Given the description of an element on the screen output the (x, y) to click on. 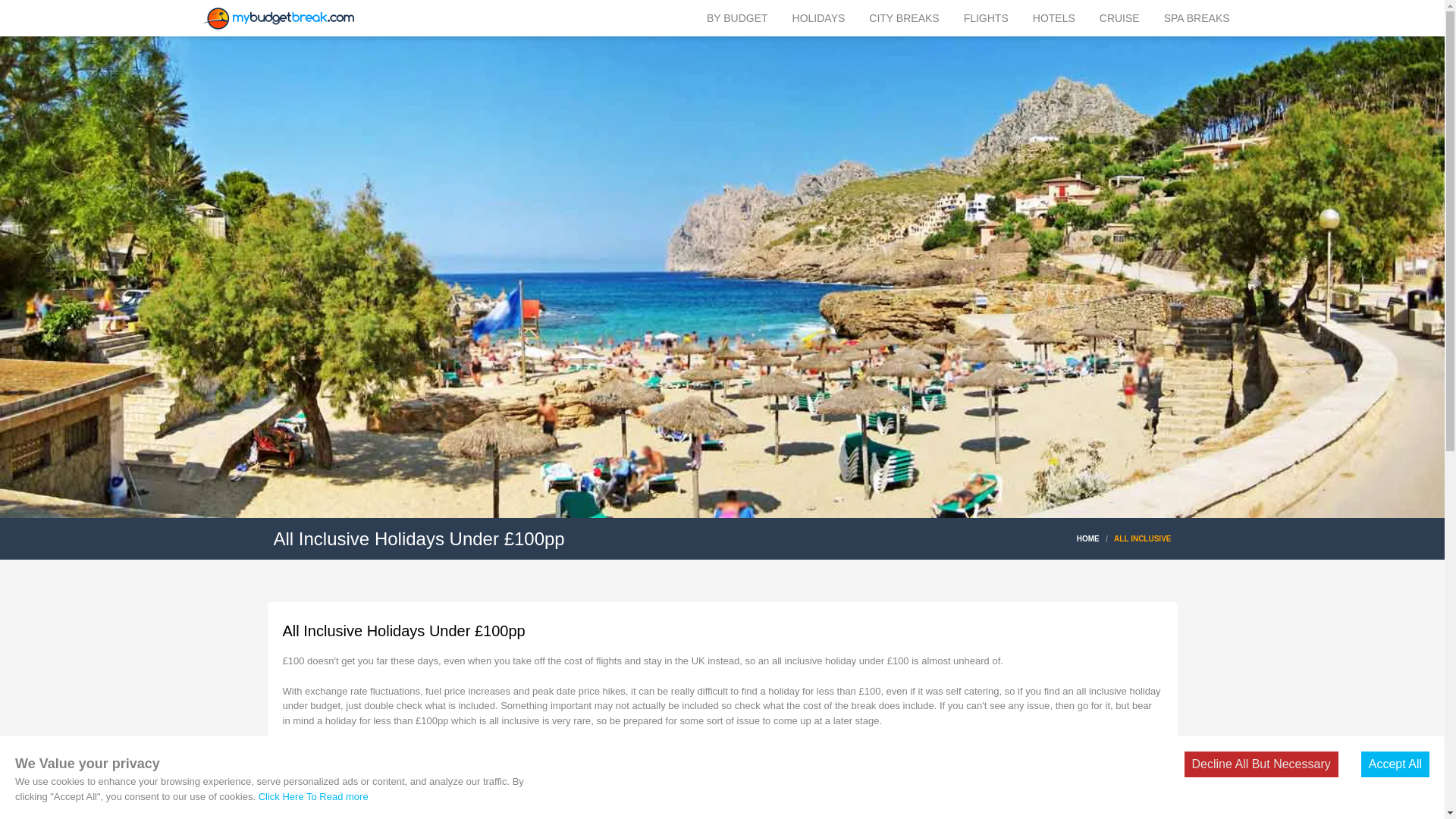
HOW LIKELY IS IT (479, 800)
BY BUDGET (737, 18)
HOLIDAYS (818, 18)
CRUISE (1119, 18)
Click Here To Read more (313, 795)
Accept All (1395, 764)
HOME (1088, 538)
HOTELS (1053, 18)
Decline All But Necessary (1261, 764)
FLIGHTS (986, 18)
CITY BREAKS (903, 18)
DESTINATIONS (591, 800)
home page (278, 18)
SPA BREAKS (1196, 18)
HOW TO GET A HOLIDAY (342, 800)
